Given the description of an element on the screen output the (x, y) to click on. 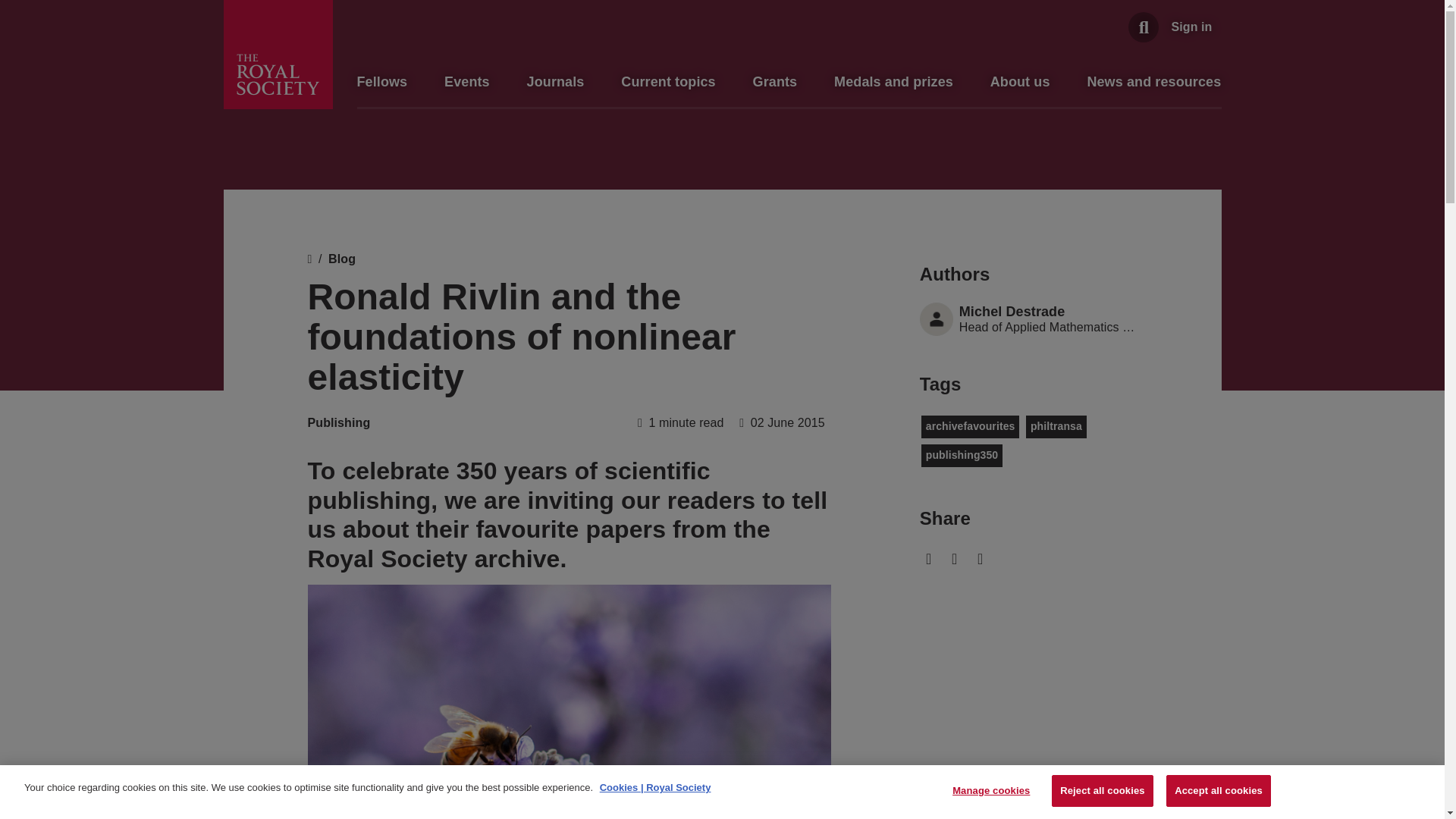
Fellows (381, 81)
Journals (556, 81)
Current topics (667, 81)
